Given the description of an element on the screen output the (x, y) to click on. 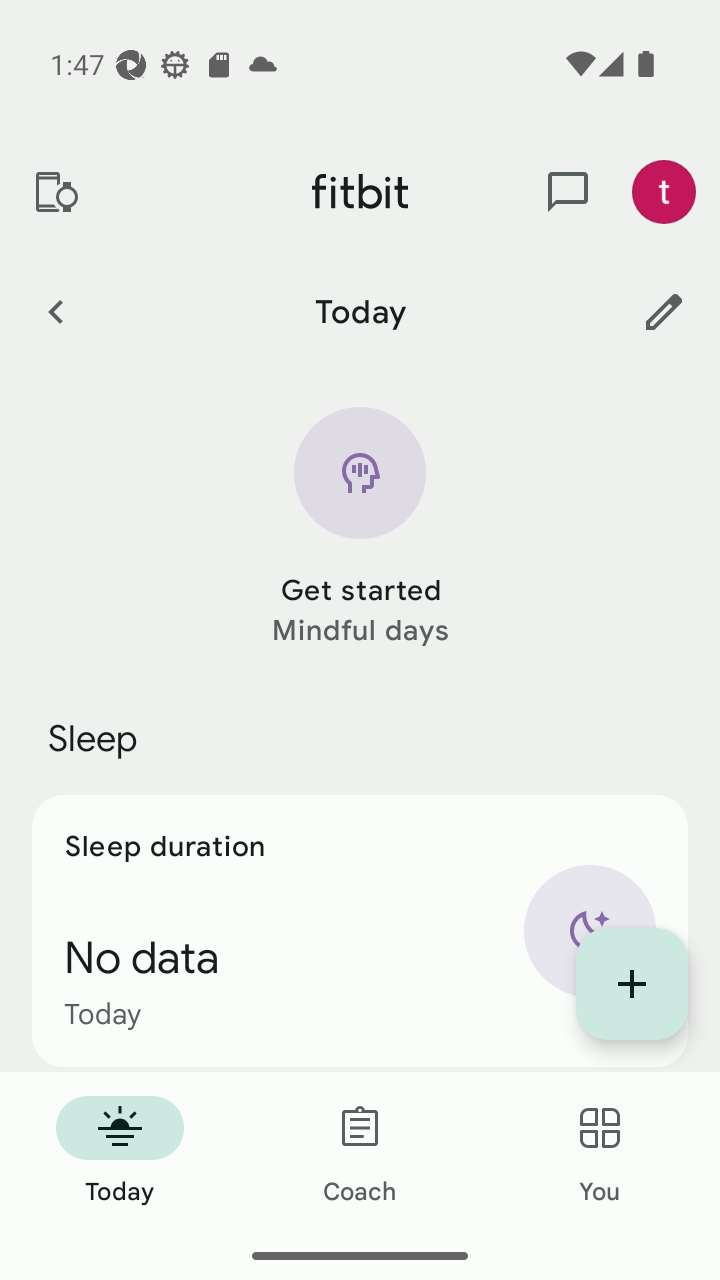
Devices and apps (55, 191)
messages and notifications (567, 191)
Previous Day (55, 311)
Customize (664, 311)
Mindfulness icon Get started Mindful days (360, 529)
Sleep duration No data Today Sleep static arc (359, 930)
Display list of quick log entries (632, 983)
Coach (359, 1151)
You (600, 1151)
